Given the description of an element on the screen output the (x, y) to click on. 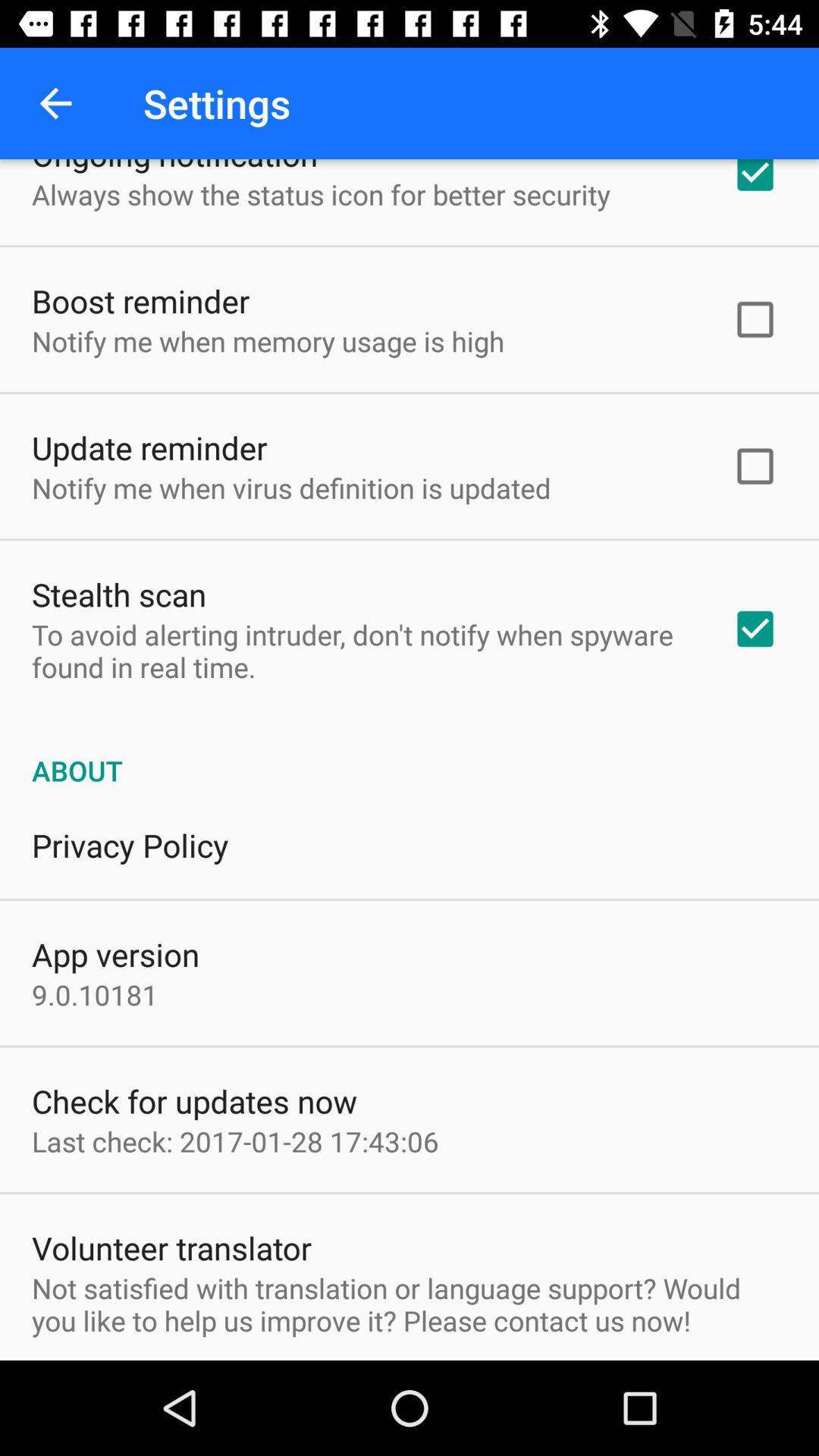
jump until the always show the item (320, 194)
